Given the description of an element on the screen output the (x, y) to click on. 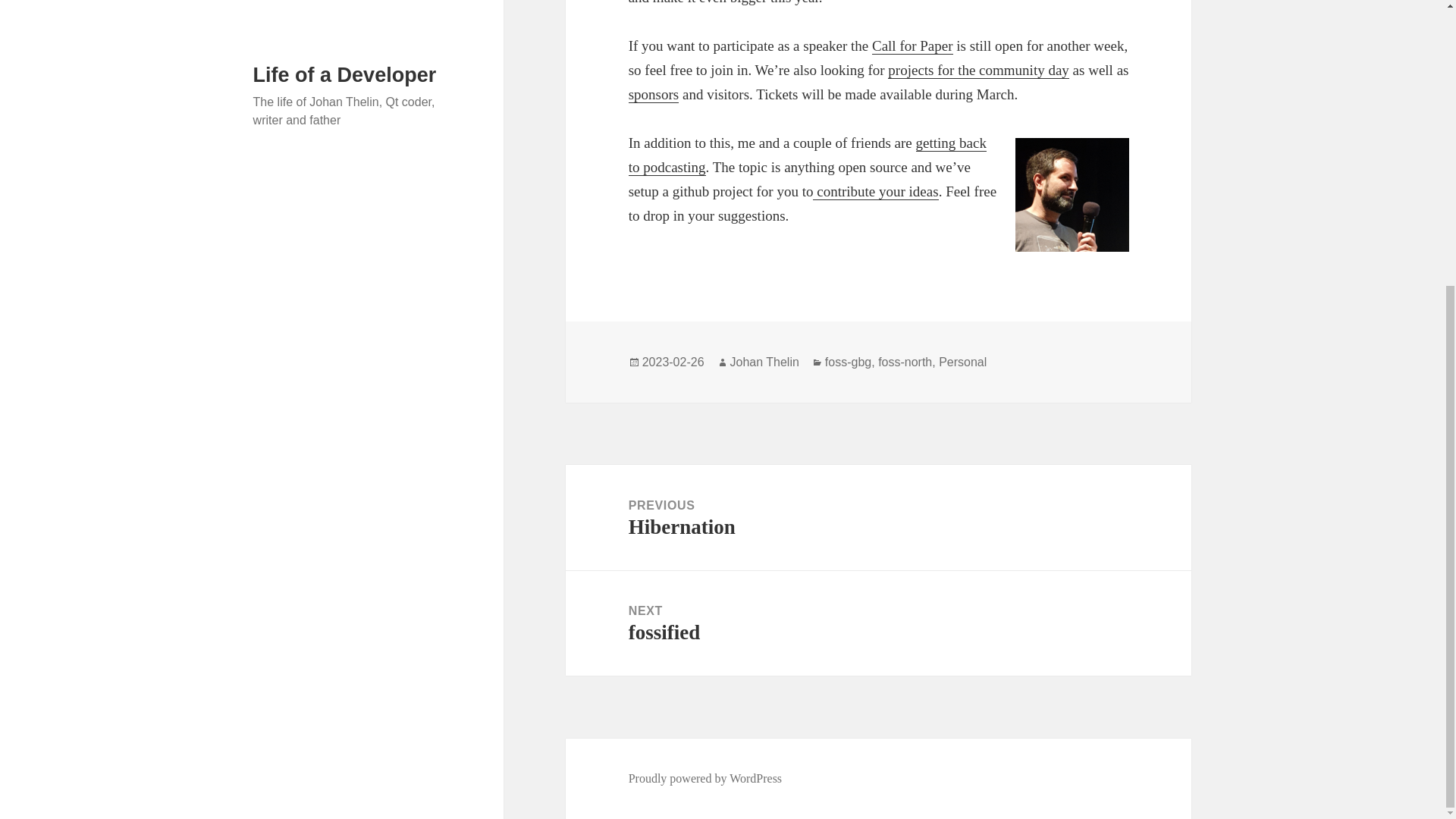
foss-north (904, 362)
Personal (963, 362)
sponsors (653, 94)
2023-02-26 (673, 362)
getting back to podcasting (878, 623)
projects for the community day (807, 155)
Proudly powered by WordPress (978, 70)
Call for Paper (704, 778)
foss-gbg (912, 45)
